Given the description of an element on the screen output the (x, y) to click on. 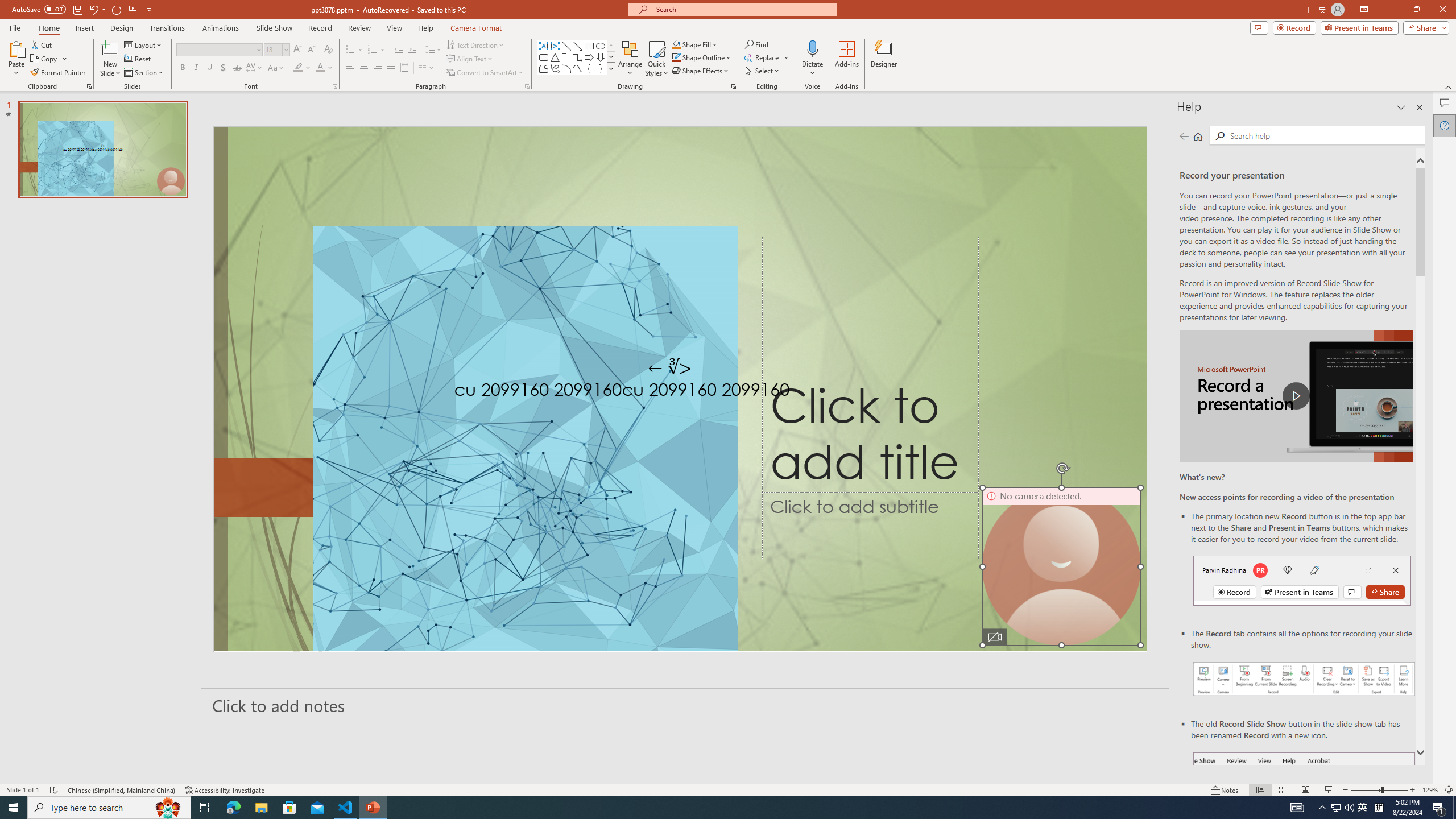
Camera Format (475, 28)
